Given the description of an element on the screen output the (x, y) to click on. 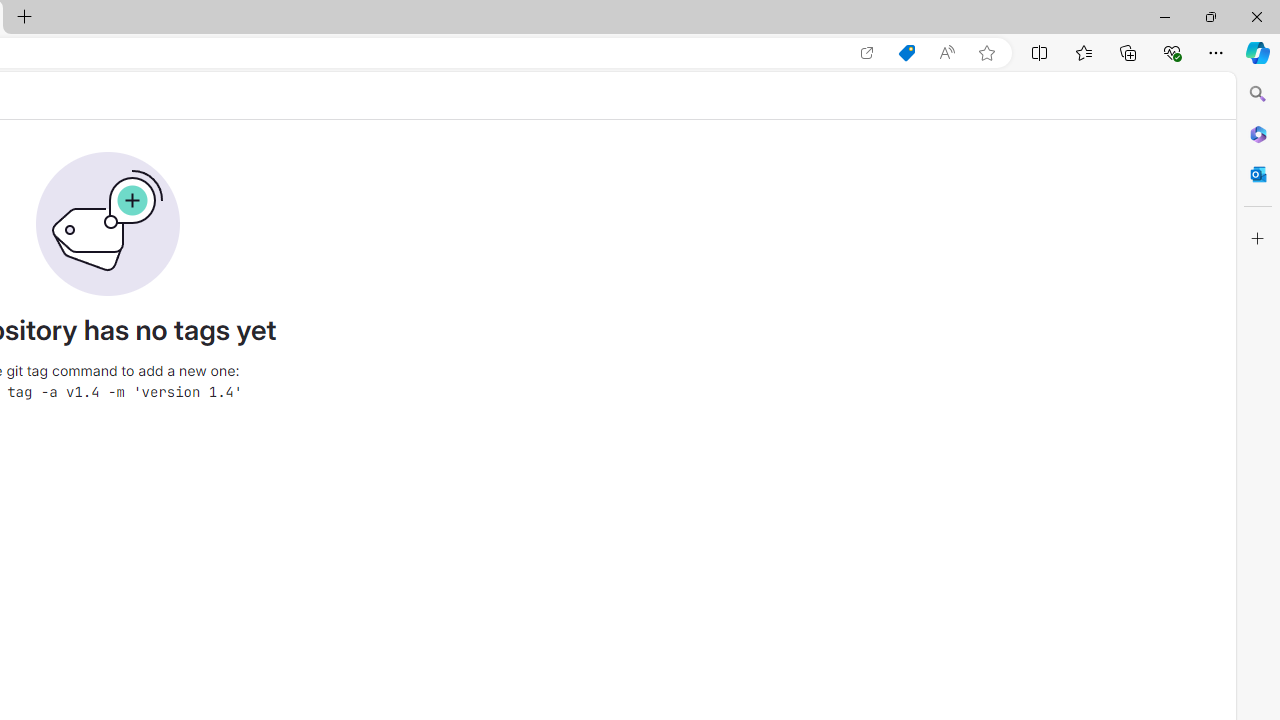
Open in app (867, 53)
